Given the description of an element on the screen output the (x, y) to click on. 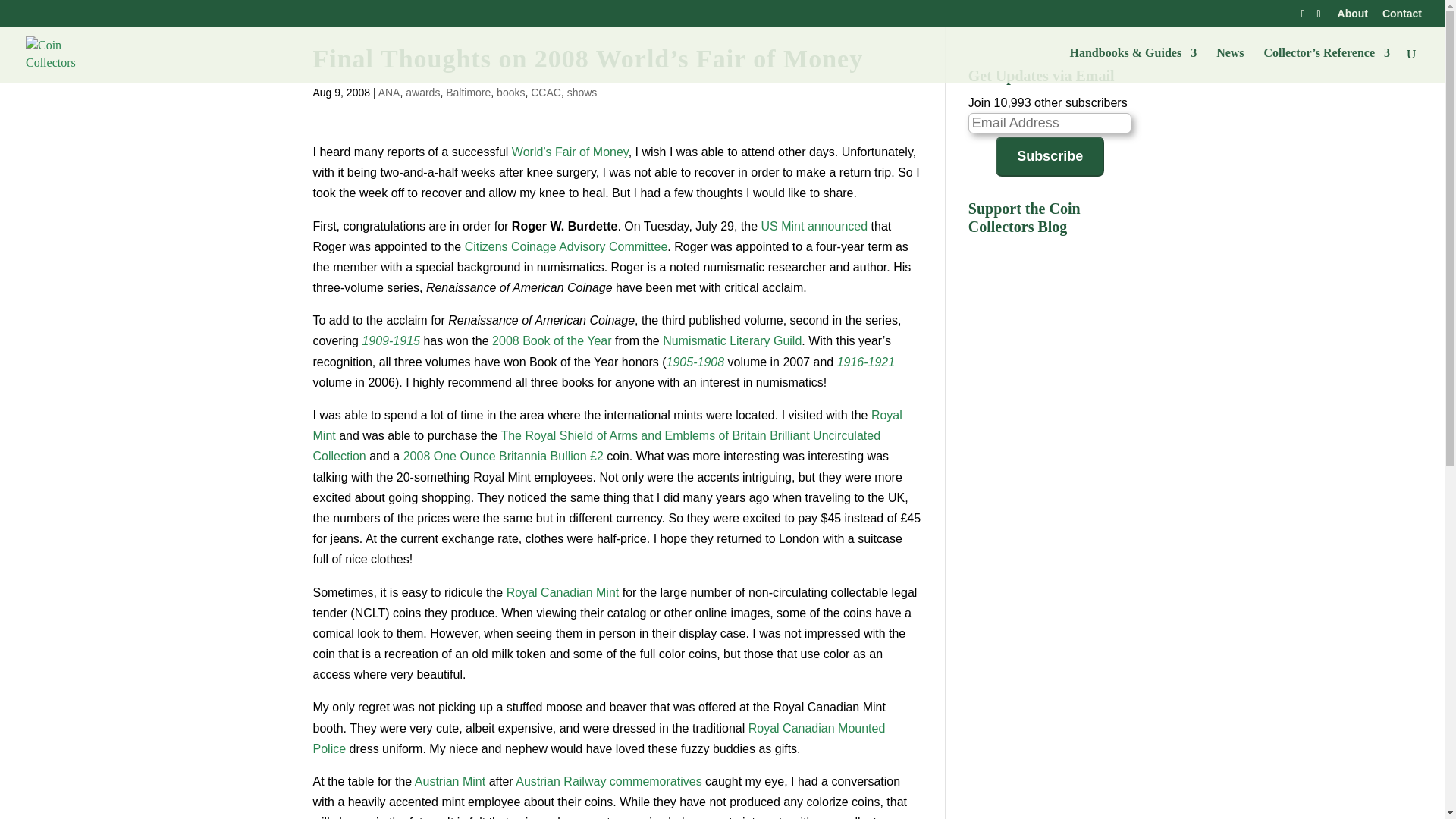
US Mint (783, 226)
Numismatic Literary Guild (732, 340)
Baltimore (467, 92)
2008 Book of the Year (551, 340)
Contact (1401, 16)
awards (422, 92)
books (510, 92)
Citizens Coinage Advisory Committee (566, 246)
1909-1915 (390, 340)
CCAC (545, 92)
